Given the description of an element on the screen output the (x, y) to click on. 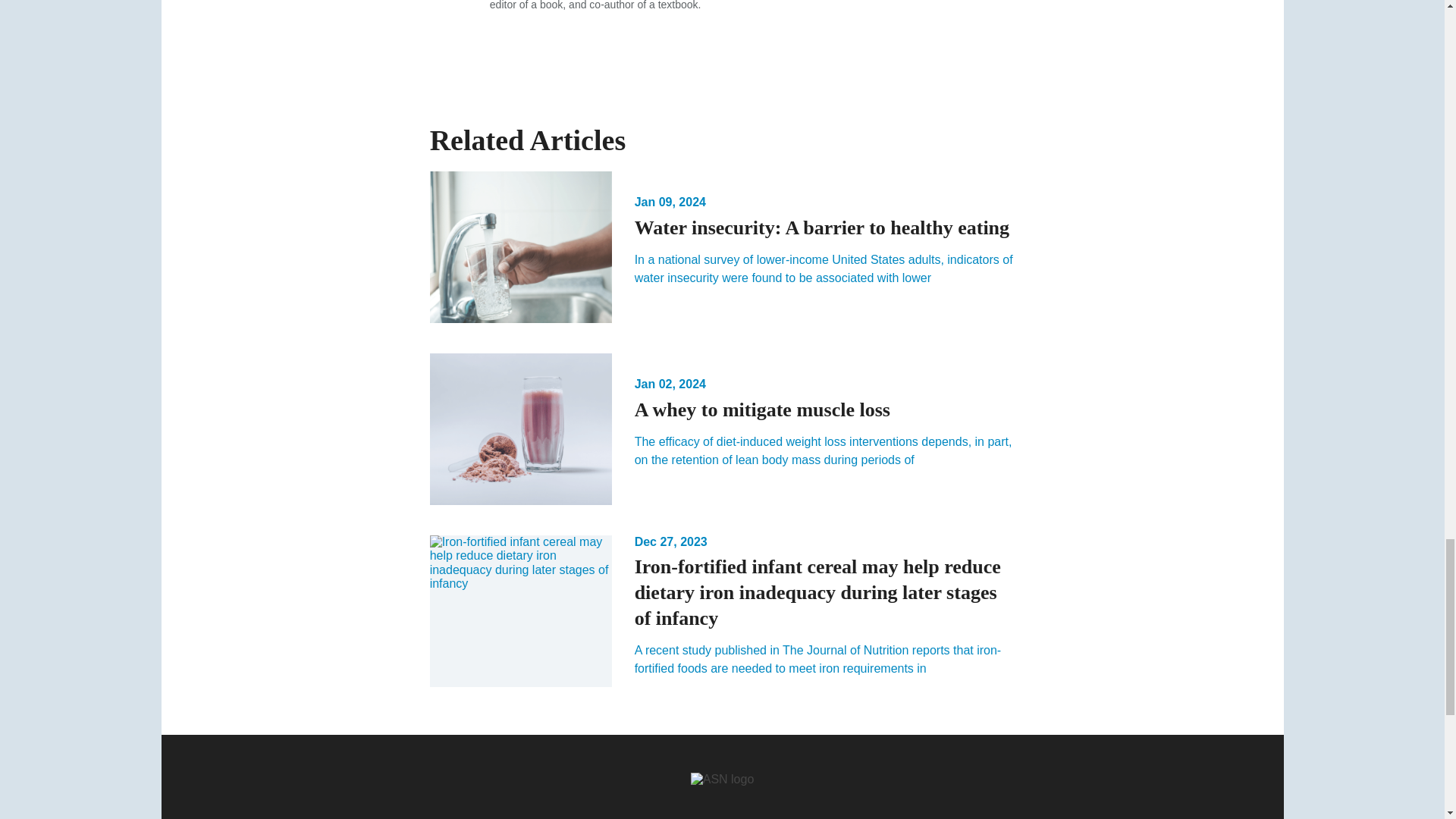
Read Article (721, 428)
Read Article (721, 612)
Read Article (721, 246)
